Given the description of an element on the screen output the (x, y) to click on. 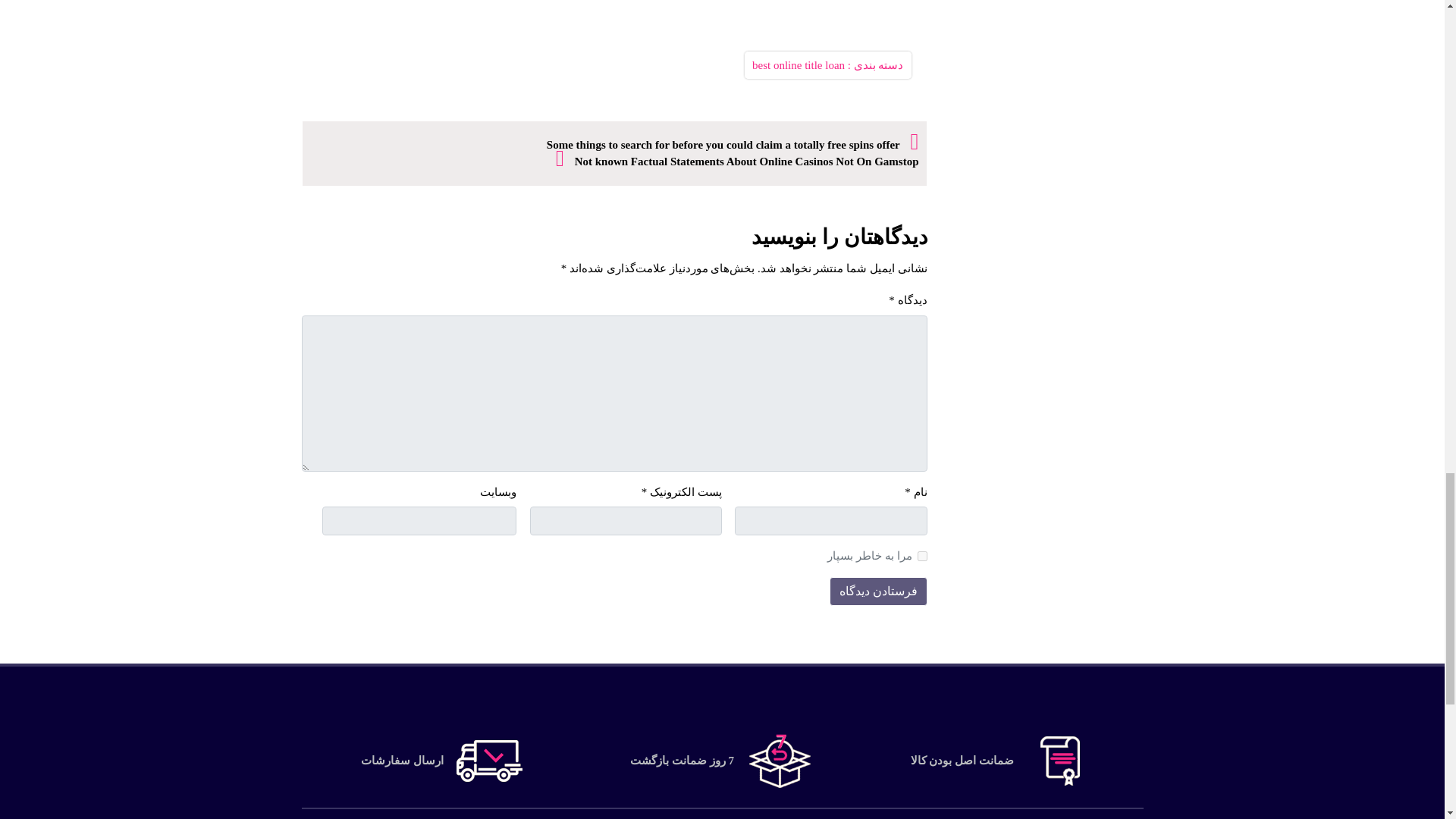
yes (922, 556)
best online title loan (798, 64)
